Given the description of an element on the screen output the (x, y) to click on. 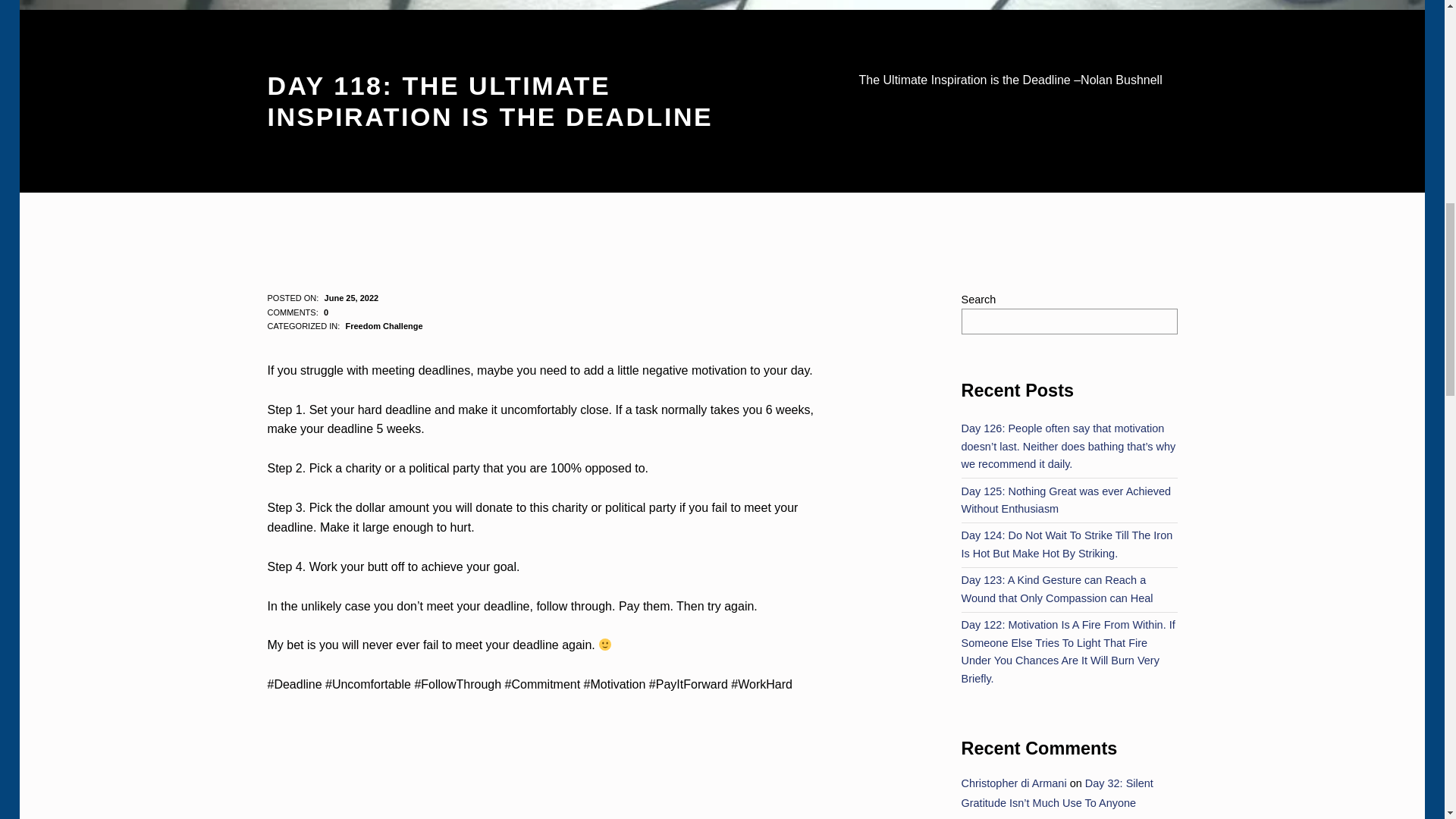
Posted on: June 25, 2022 (351, 297)
Comments: 0 (297, 311)
June 25, 2022 (351, 297)
Freedom Challenge (383, 325)
COMMENTS: 0 (297, 311)
The Ultimate Inspiration is the Deadline -Nolan Bushnell (548, 785)
